Given the description of an element on the screen output the (x, y) to click on. 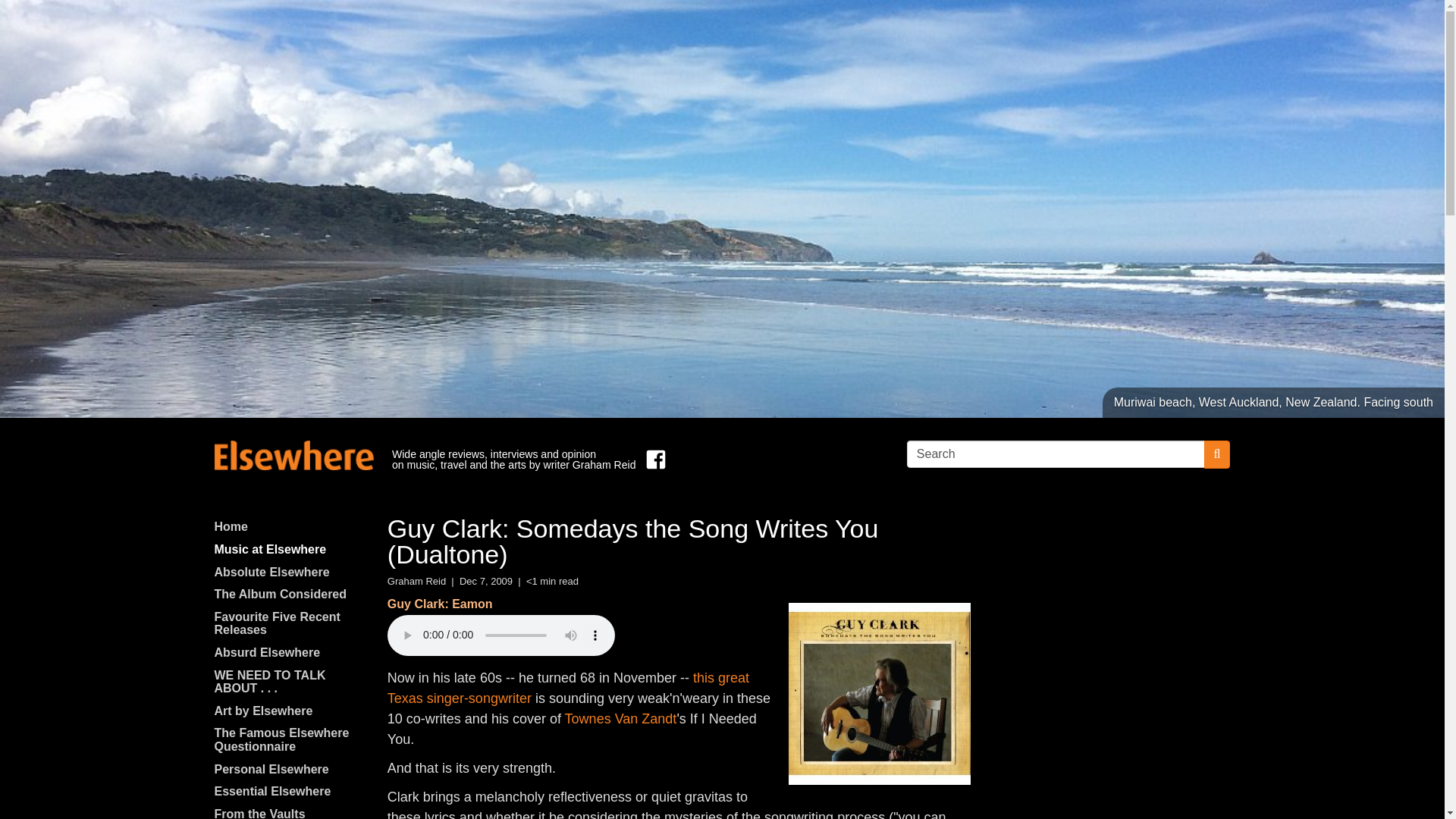
Elsewhere by Graham Reid (293, 455)
Find us on Facebook (652, 459)
Search (1056, 453)
Search (1056, 453)
